Given the description of an element on the screen output the (x, y) to click on. 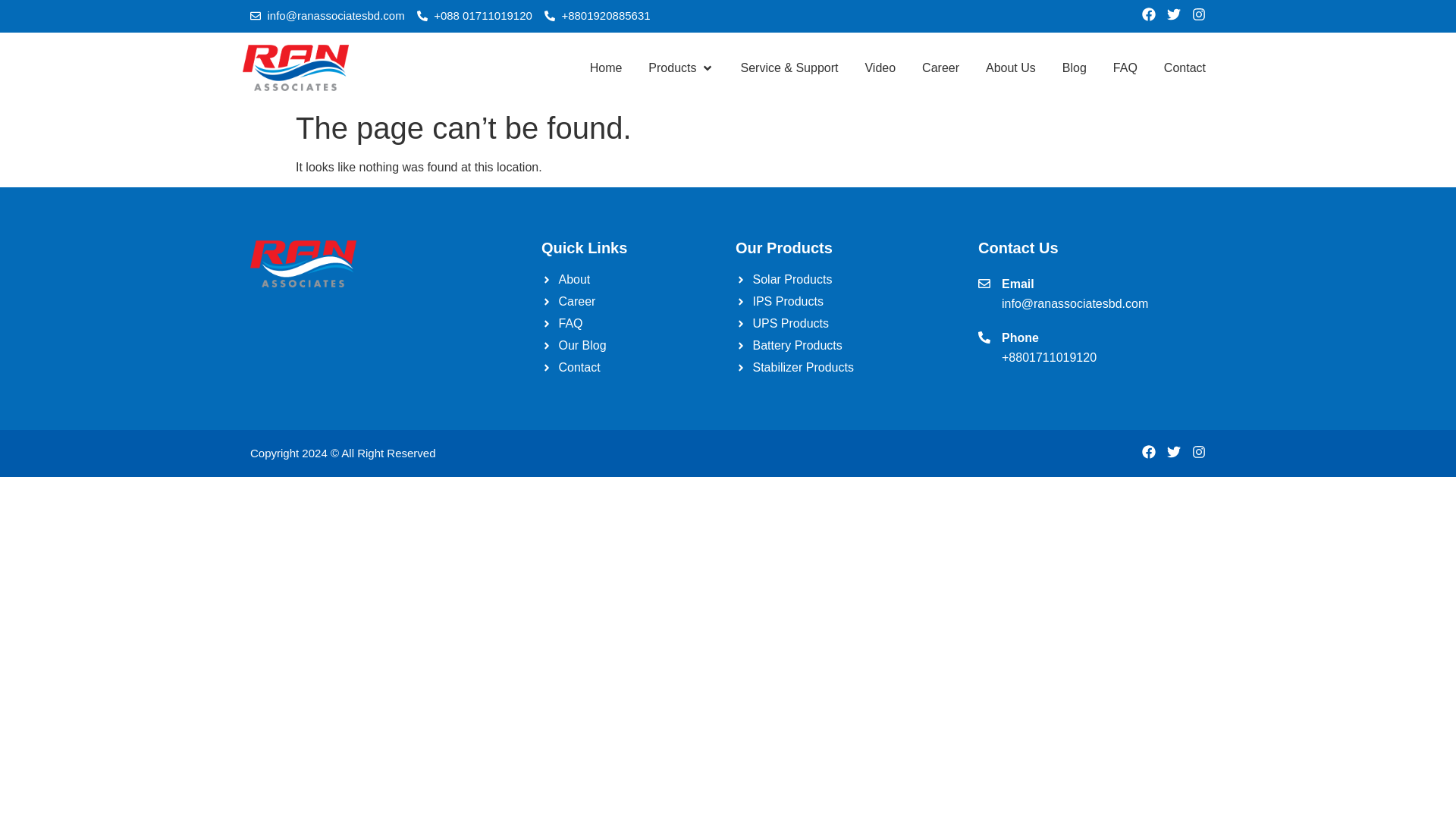
Products (671, 67)
Our Blog (630, 345)
IPS Products (848, 301)
UPS Products (848, 323)
FAQ (1125, 67)
Video (879, 67)
Stabilizer Products (848, 367)
Battery Products (848, 345)
Contact (1184, 67)
Blog (1074, 67)
Solar Products (848, 280)
Home (606, 67)
Career (630, 301)
About (630, 280)
Contact (630, 367)
